Given the description of an element on the screen output the (x, y) to click on. 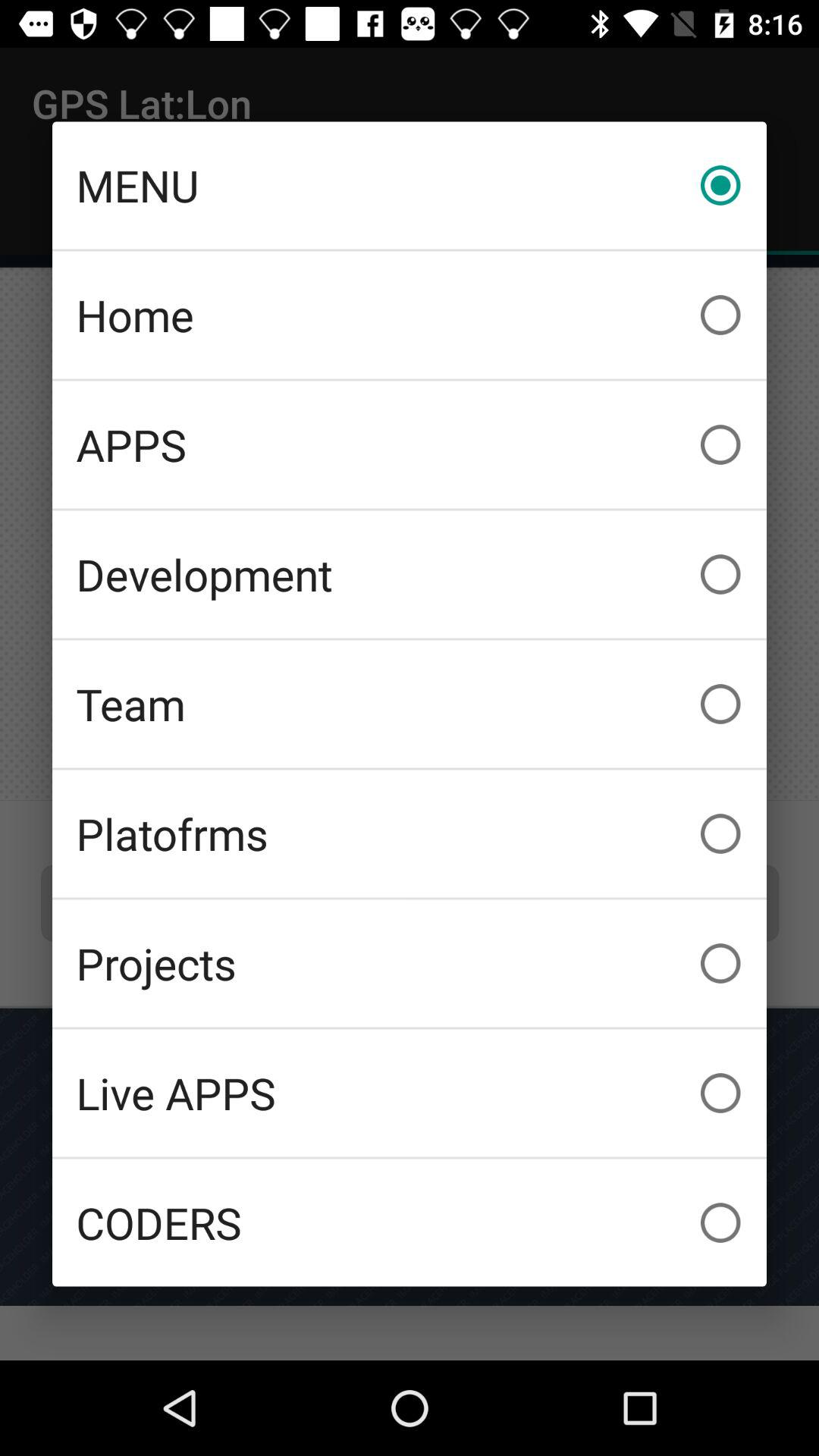
click the item above the home item (409, 185)
